Given the description of an element on the screen output the (x, y) to click on. 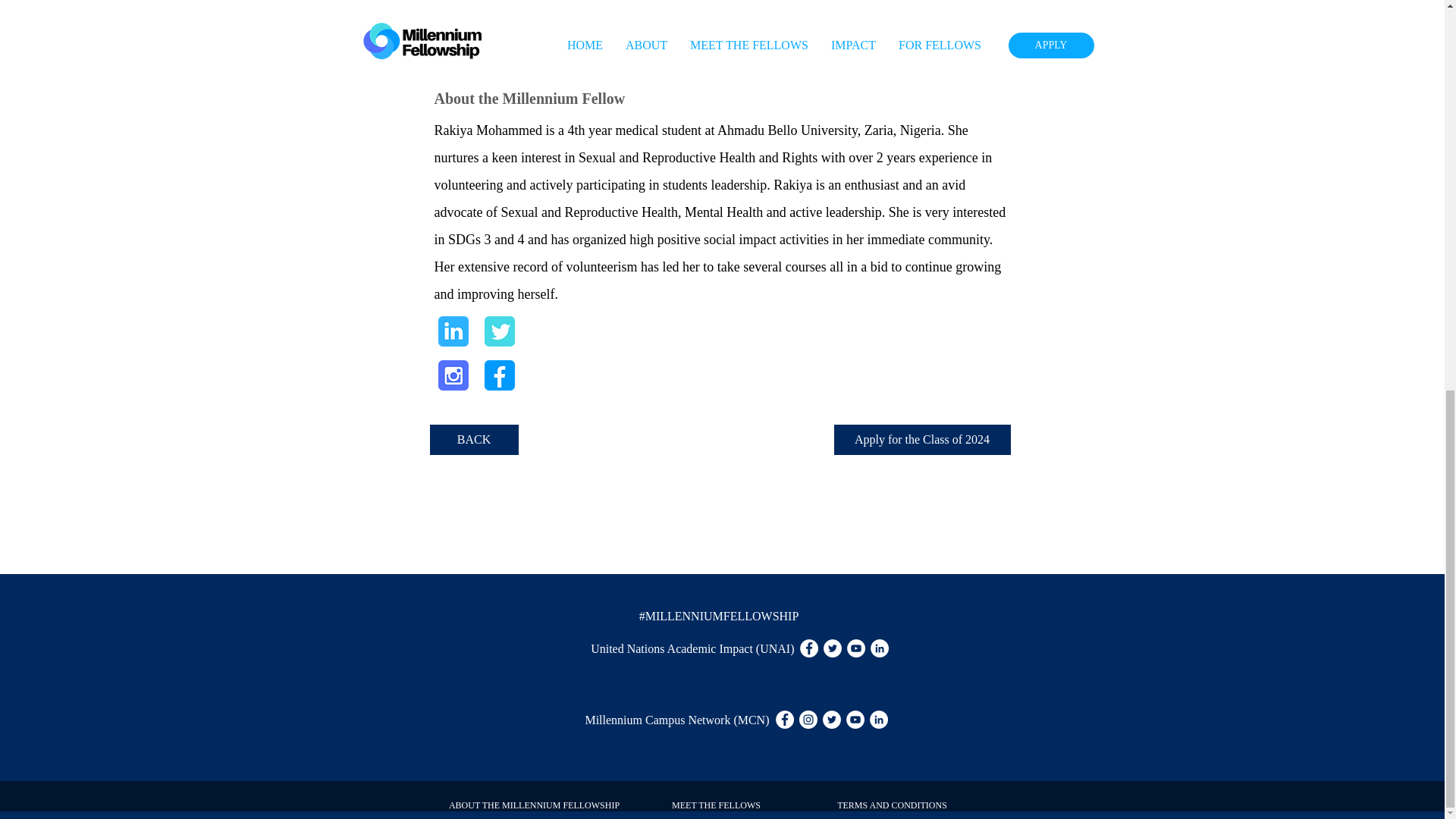
TERMS AND CONDITIONS (892, 805)
Apply for the Class of 2024 (922, 440)
ABOUT THE MILLENNIUM FELLOWSHIP (534, 805)
MEET THE FELLOWS (715, 805)
BACK (473, 440)
